Given the description of an element on the screen output the (x, y) to click on. 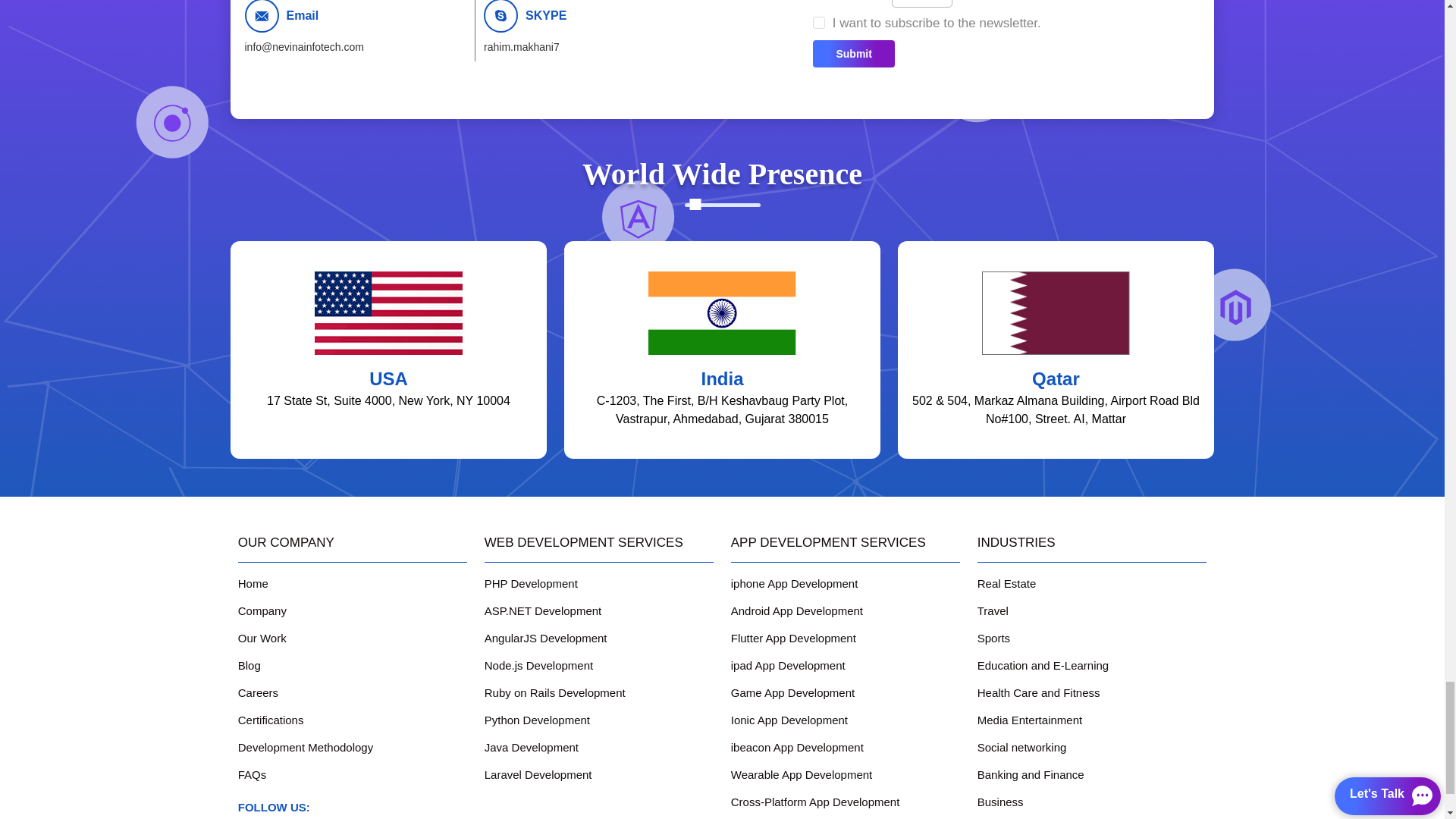
on (818, 22)
Submit (852, 53)
